Given the description of an element on the screen output the (x, y) to click on. 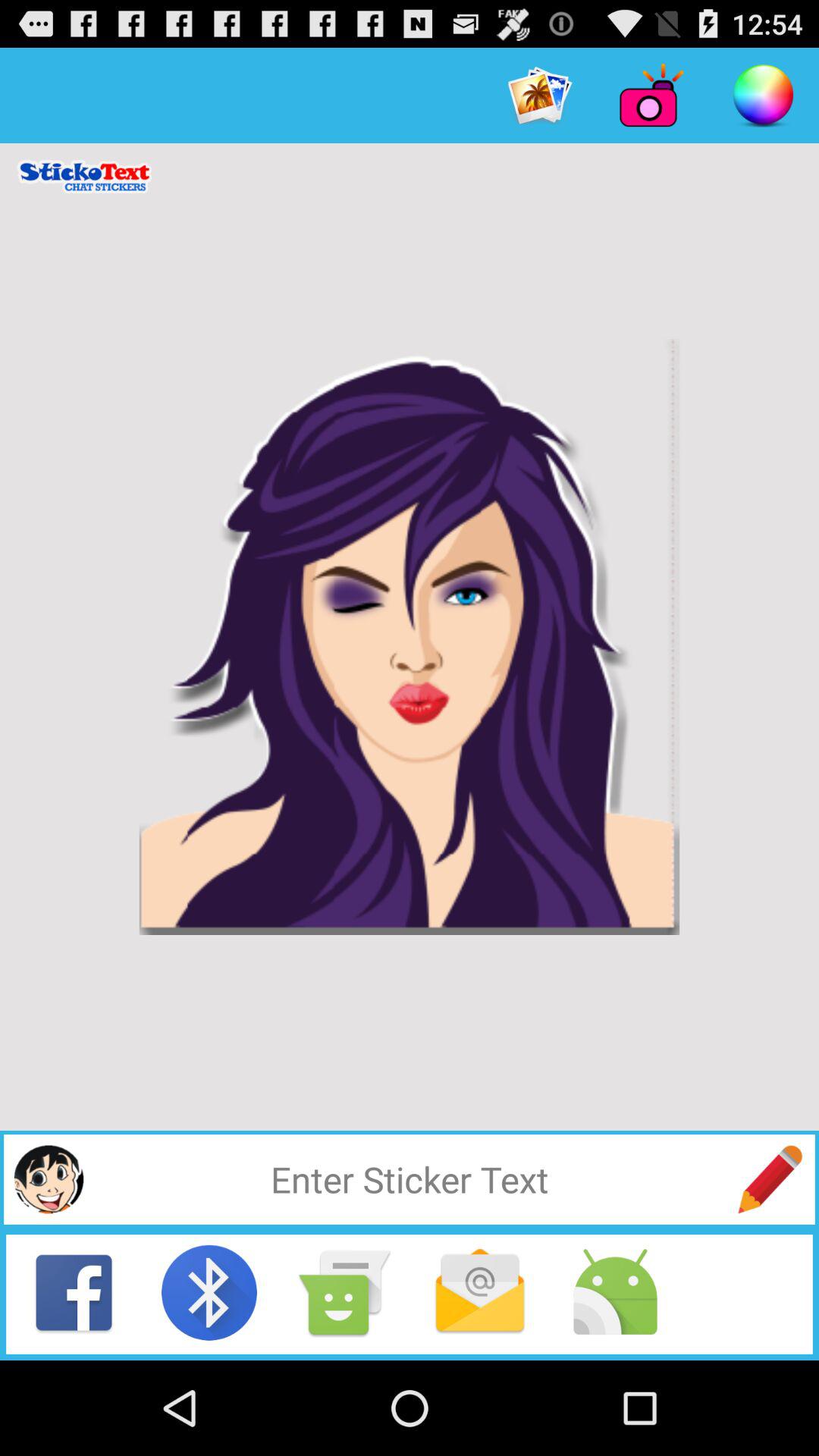
email button (479, 1292)
